Given the description of an element on the screen output the (x, y) to click on. 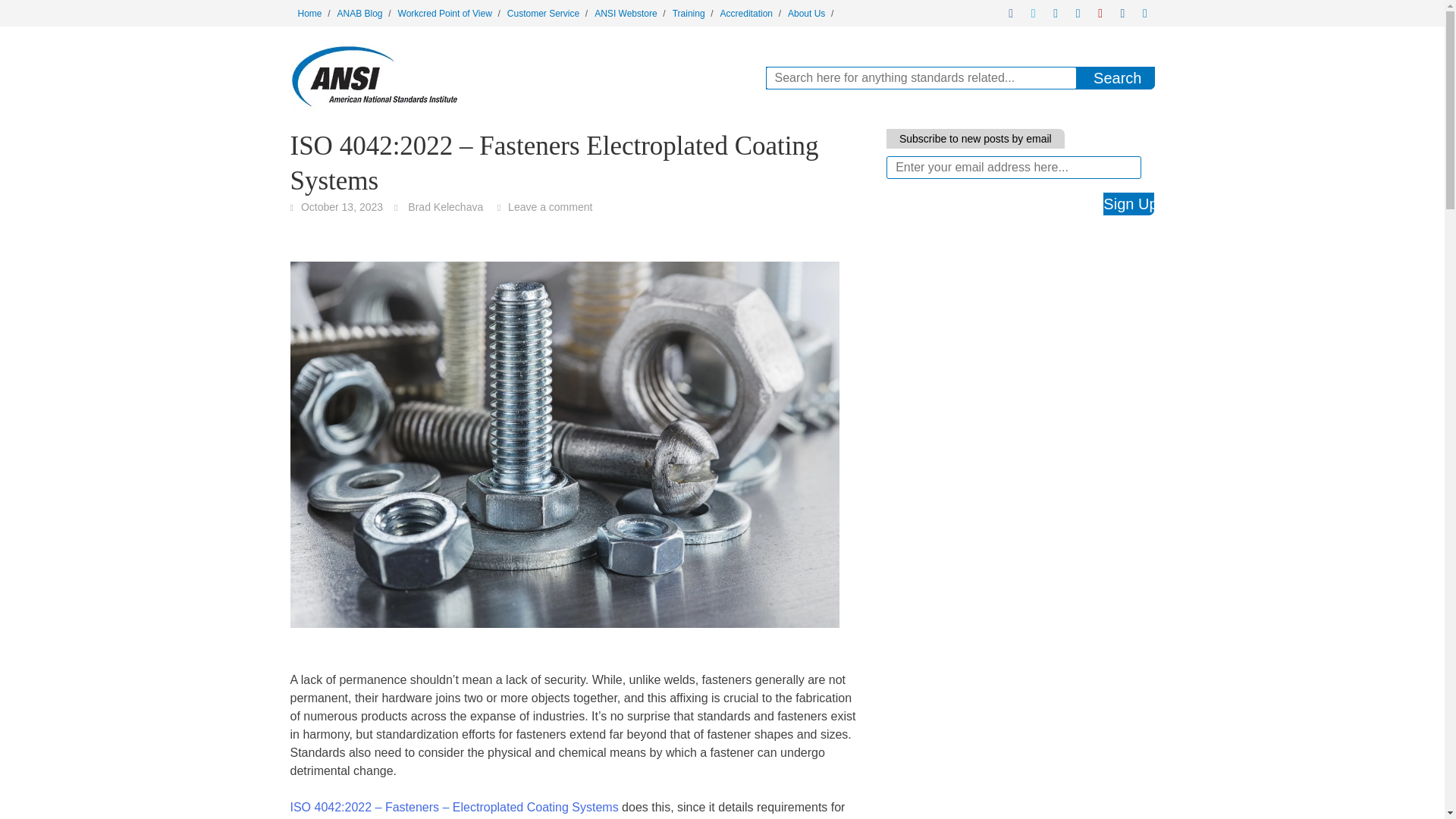
Accreditation (746, 13)
Brad Kelechava (445, 206)
ANSI Webstore (624, 13)
Sign Up (1128, 203)
Customer Service (542, 13)
Workcred Point of View (444, 13)
Leave a comment (550, 206)
October 13, 2023 (341, 206)
About Us (806, 13)
Search (1117, 77)
Training (689, 13)
ANAB Blog (360, 13)
Search (1117, 77)
Home (309, 13)
